Given the description of an element on the screen output the (x, y) to click on. 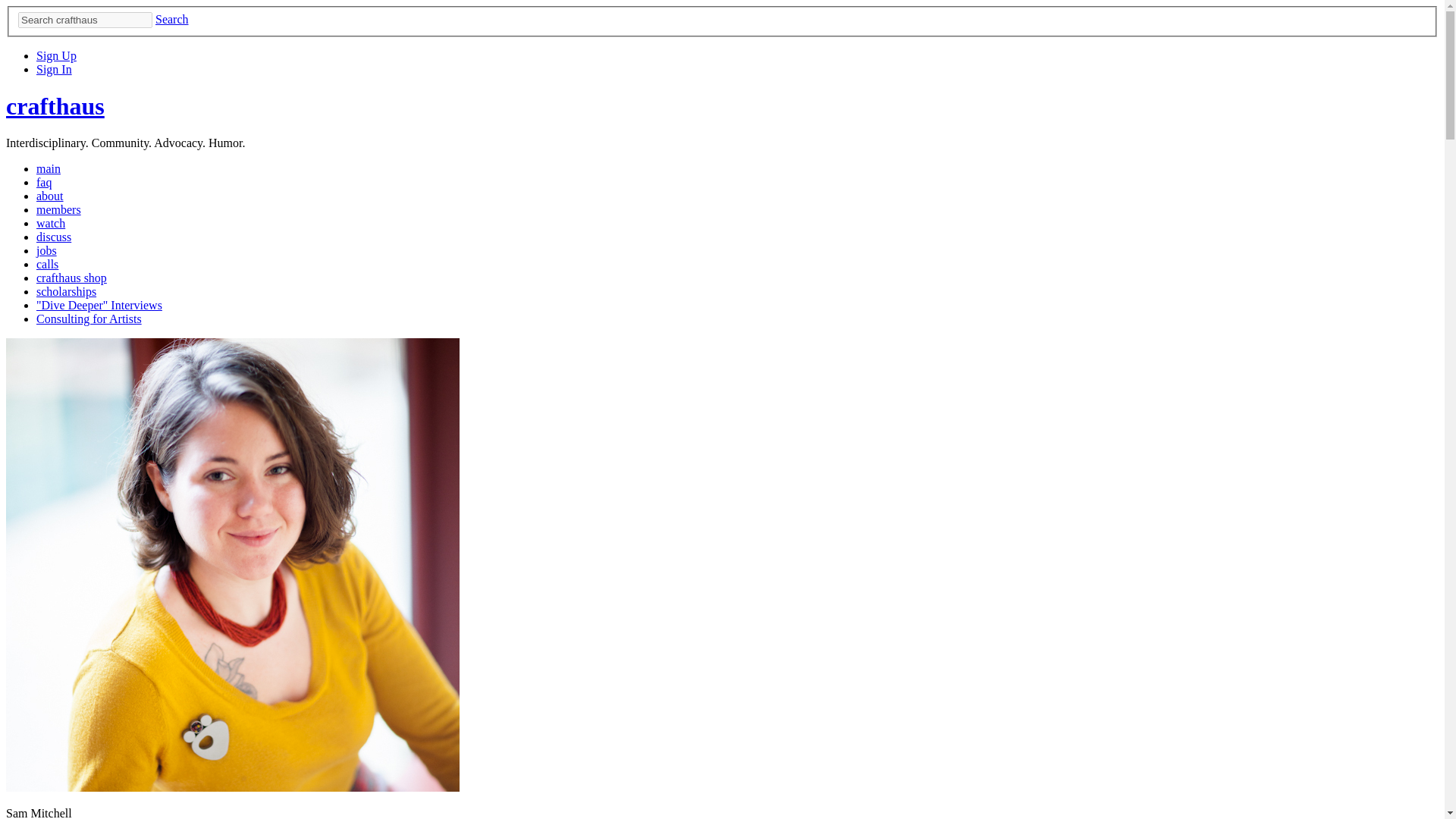
faq (43, 182)
members (58, 209)
Search (172, 19)
calls (47, 264)
about (50, 195)
discuss (53, 236)
watch (50, 223)
Search crafthaus (84, 19)
Sign In (53, 69)
crafthaus (54, 105)
Sign Up (56, 55)
jobs (46, 250)
Search crafthaus (84, 19)
main (48, 168)
scholarships (66, 291)
